Given the description of an element on the screen output the (x, y) to click on. 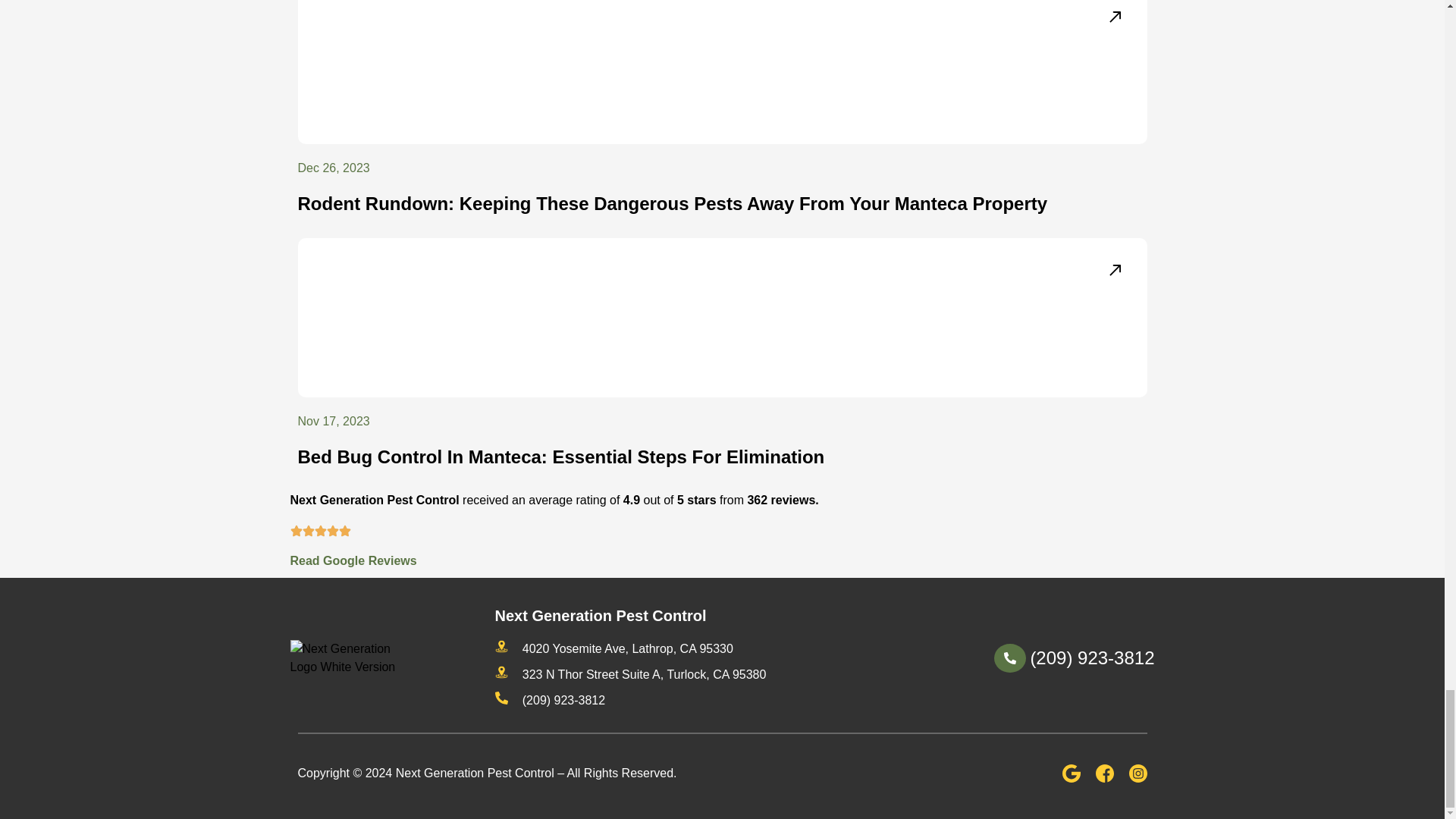
Read Google Reviews (352, 560)
Bed Bug Control In Manteca: Essential Steps For Elimination (560, 456)
4020 Yosemite Ave, Lathrop, CA 95330 (613, 648)
323 N Thor Street Suite A, Turlock, CA 95380 (630, 674)
